Given the description of an element on the screen output the (x, y) to click on. 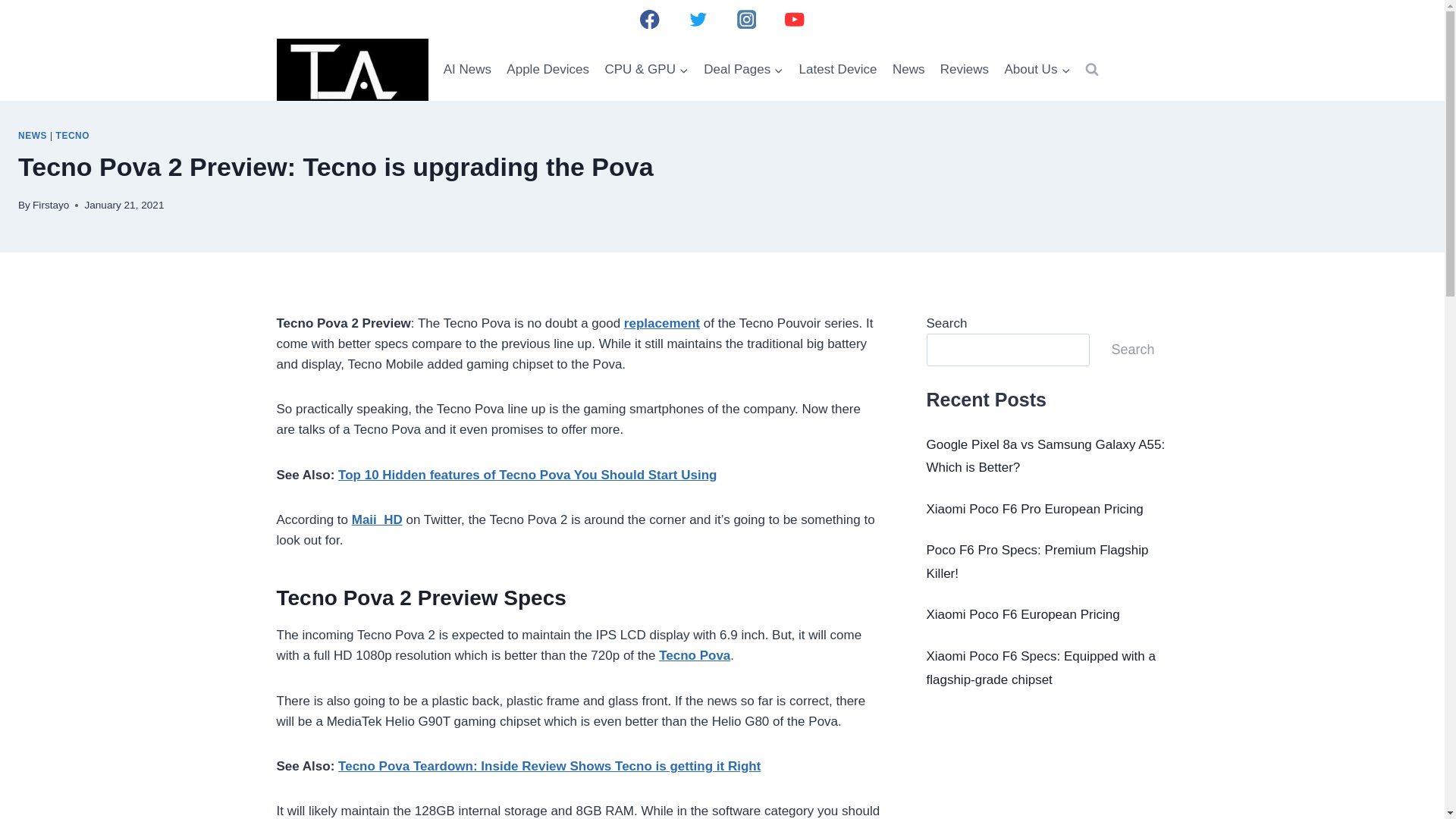
AI News (467, 69)
Top 10 Hidden features of Tecno Pova You Should Start Using (526, 474)
TECNO (73, 135)
Reviews (965, 69)
replacement (662, 323)
Apple Devices (547, 69)
Tecno Pova (694, 655)
Latest Device (836, 69)
News (909, 69)
NEWS (31, 135)
